Given the description of an element on the screen output the (x, y) to click on. 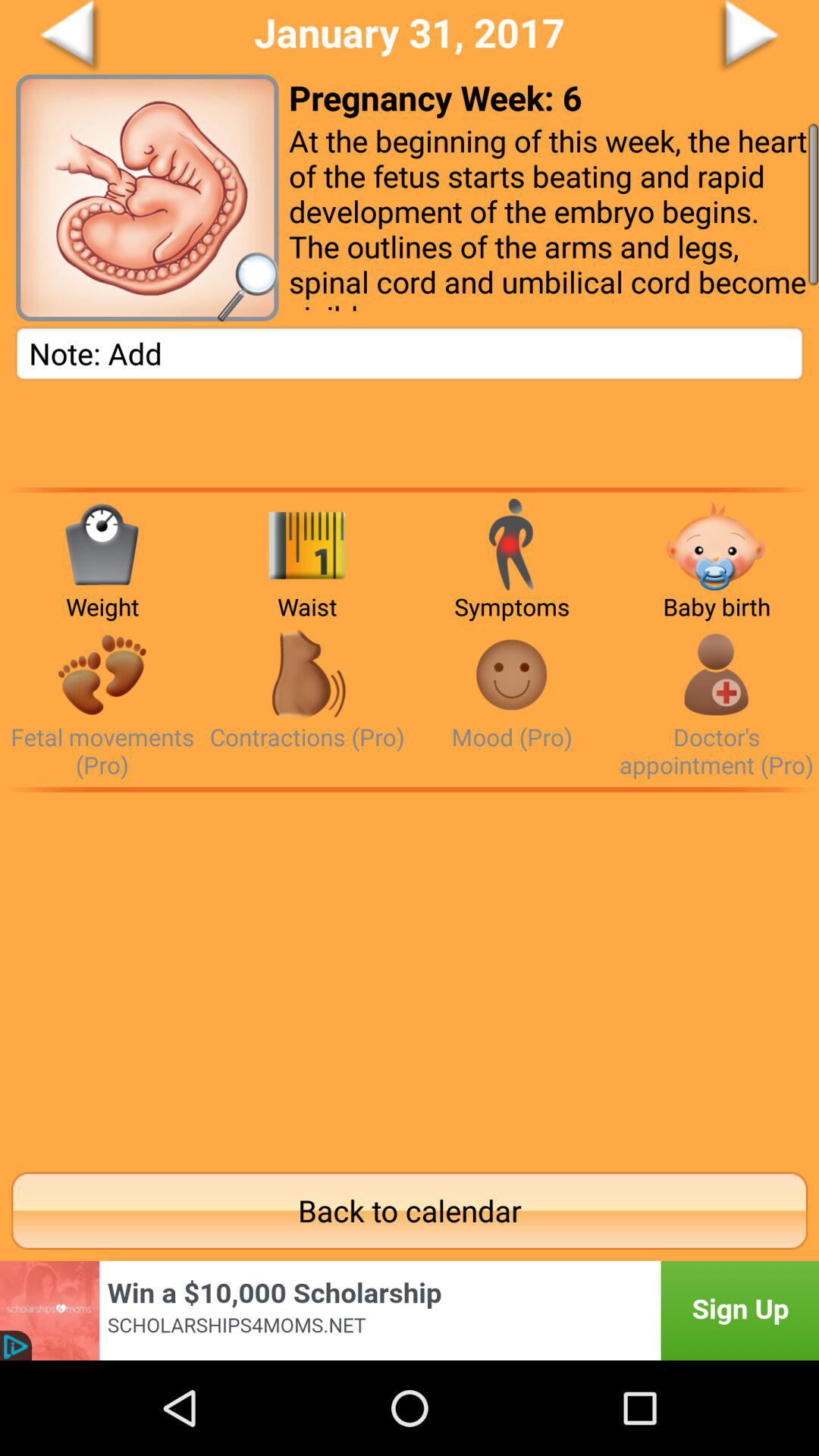
back page (127, 37)
